Given the description of an element on the screen output the (x, y) to click on. 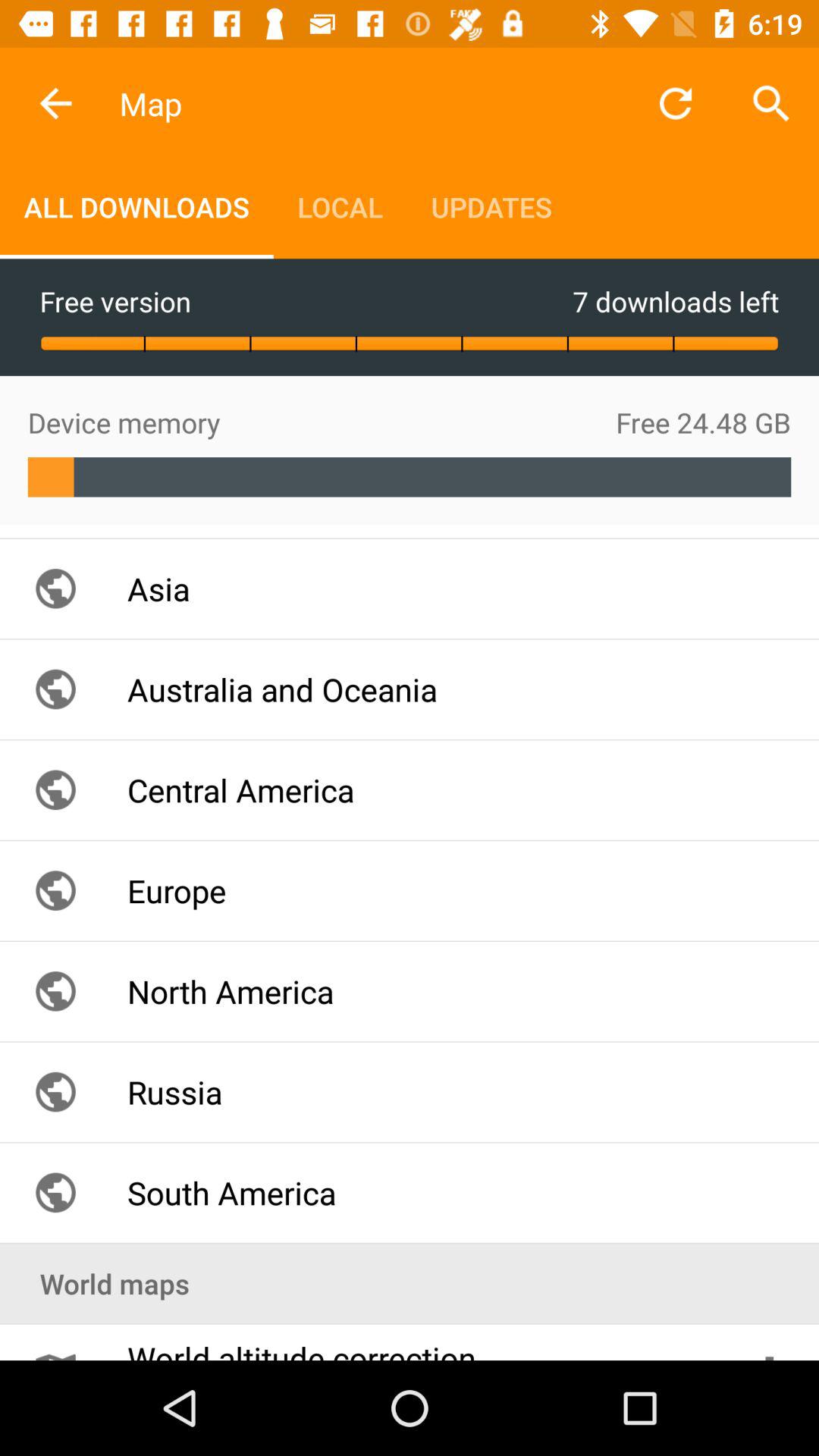
click the icon to the left of updates (340, 206)
